Given the description of an element on the screen output the (x, y) to click on. 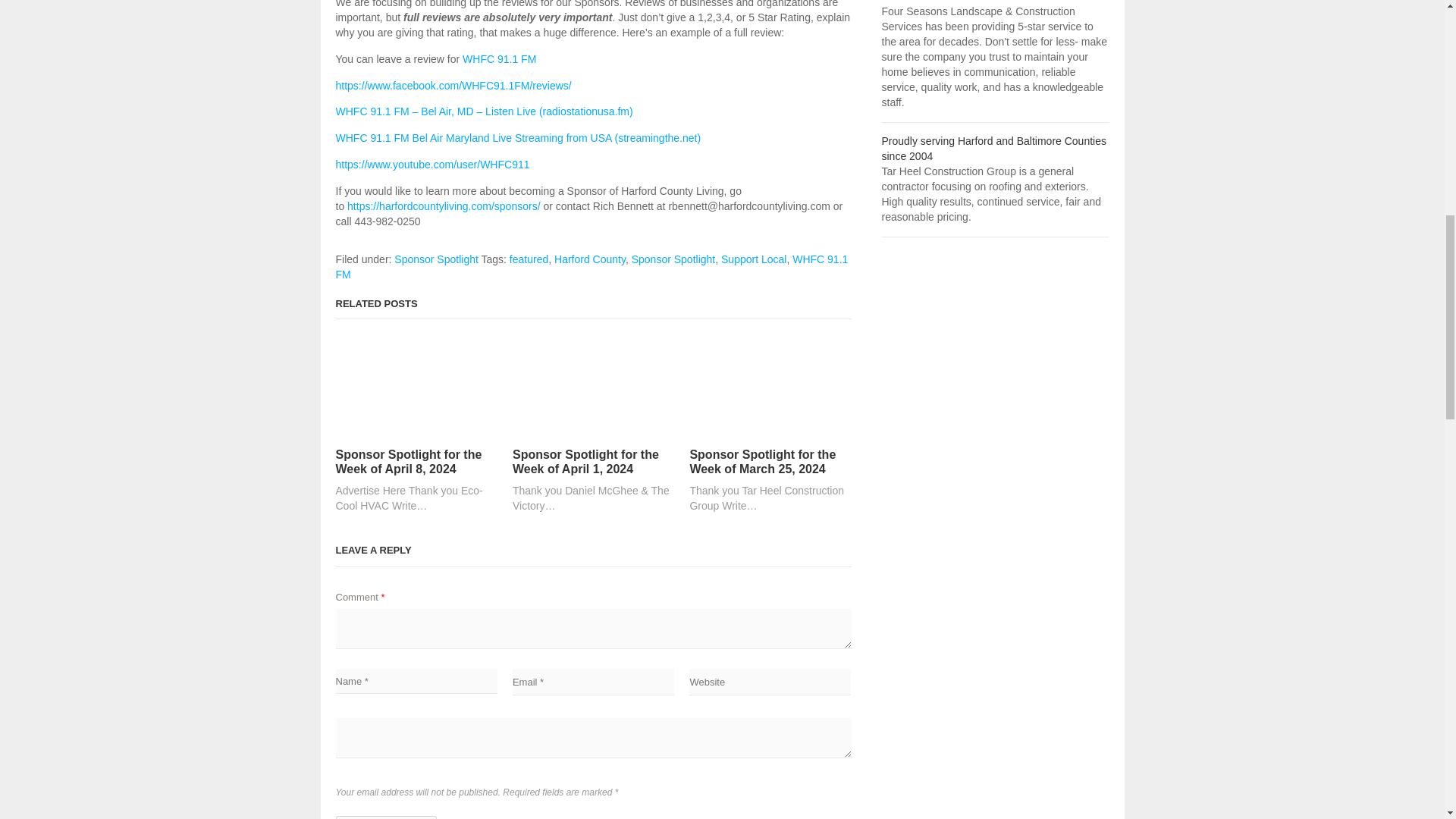
Tar Heel Construction Group (992, 148)
WHFC 91.1 FM (499, 59)
